Given the description of an element on the screen output the (x, y) to click on. 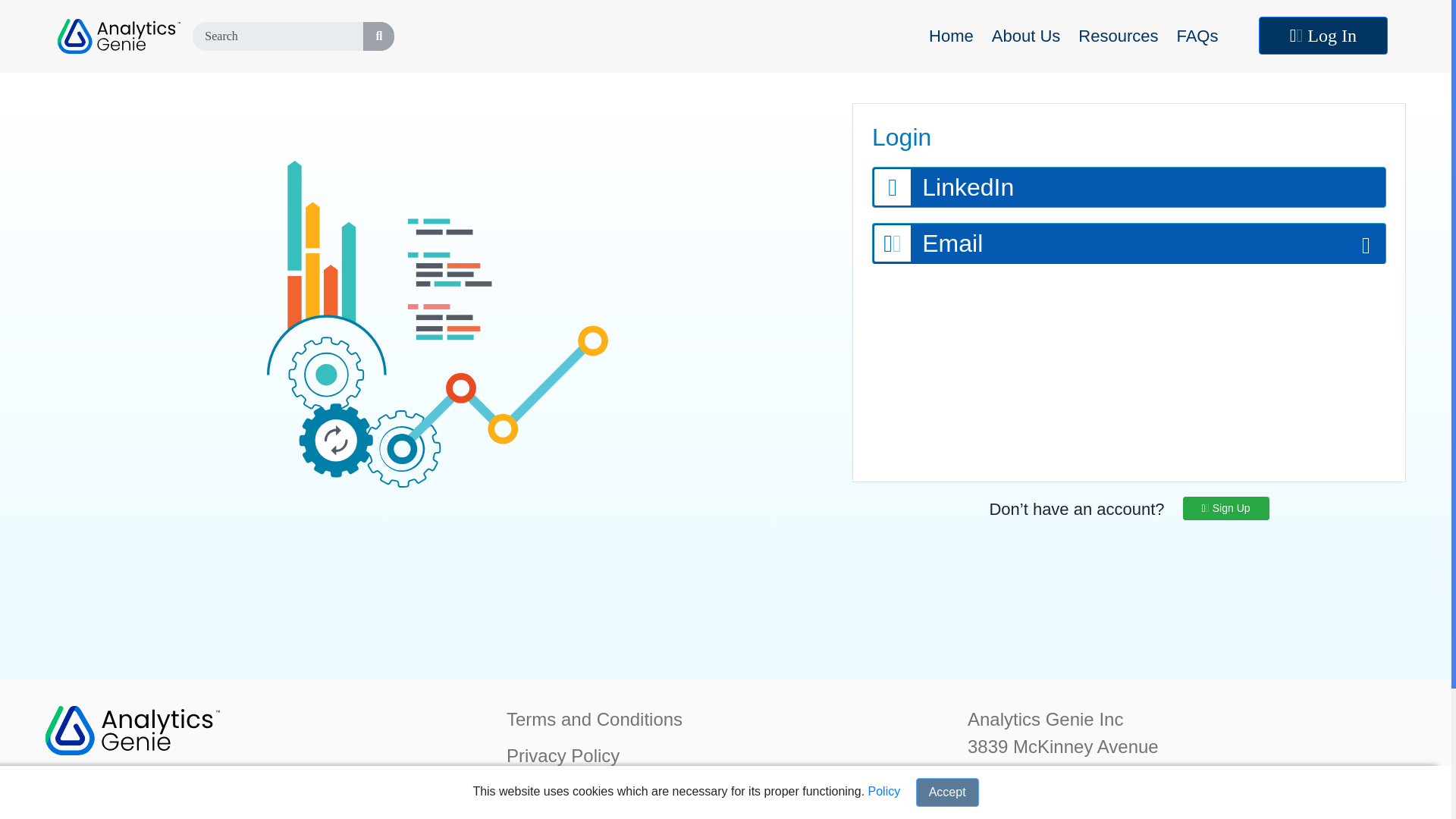
Sign Up (1225, 508)
Resources (1120, 35)
About Us (1029, 35)
FAQs (1200, 35)
Privacy Policy (563, 755)
Terms and Conditions (594, 719)
Policy (884, 790)
LinkedIn (1129, 187)
Email (1129, 243)
Accept (946, 792)
Log In (1323, 35)
